Given the description of an element on the screen output the (x, y) to click on. 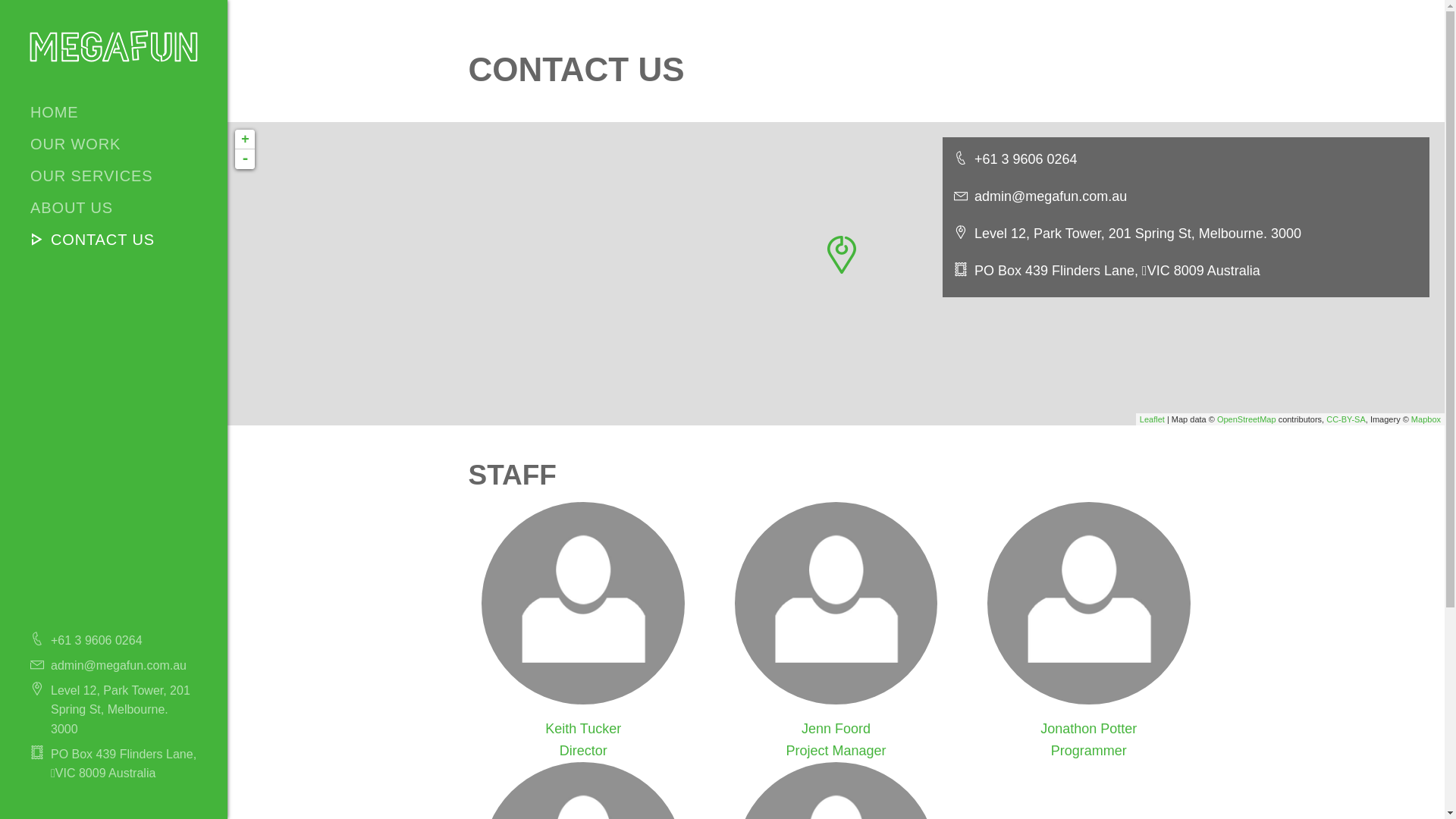
OUR WORK Element type: text (113, 143)
Jonathon Potter
Programmer Element type: text (1088, 632)
- Element type: text (244, 159)
Jenn Foord
Project Manager Element type: text (835, 632)
OUR SERVICES Element type: text (113, 175)
+61 3 9606 0264 Element type: text (96, 639)
CONTACT US Element type: text (113, 239)
+ Element type: text (244, 139)
Mapbox Element type: text (1425, 418)
Keith Tucker
Director Element type: text (582, 632)
CC-BY-SA Element type: text (1345, 418)
Leaflet Element type: text (1151, 418)
OpenStreetMap Element type: text (1246, 418)
HOME Element type: text (113, 112)
ABOUT US Element type: text (113, 207)
